Given the description of an element on the screen output the (x, y) to click on. 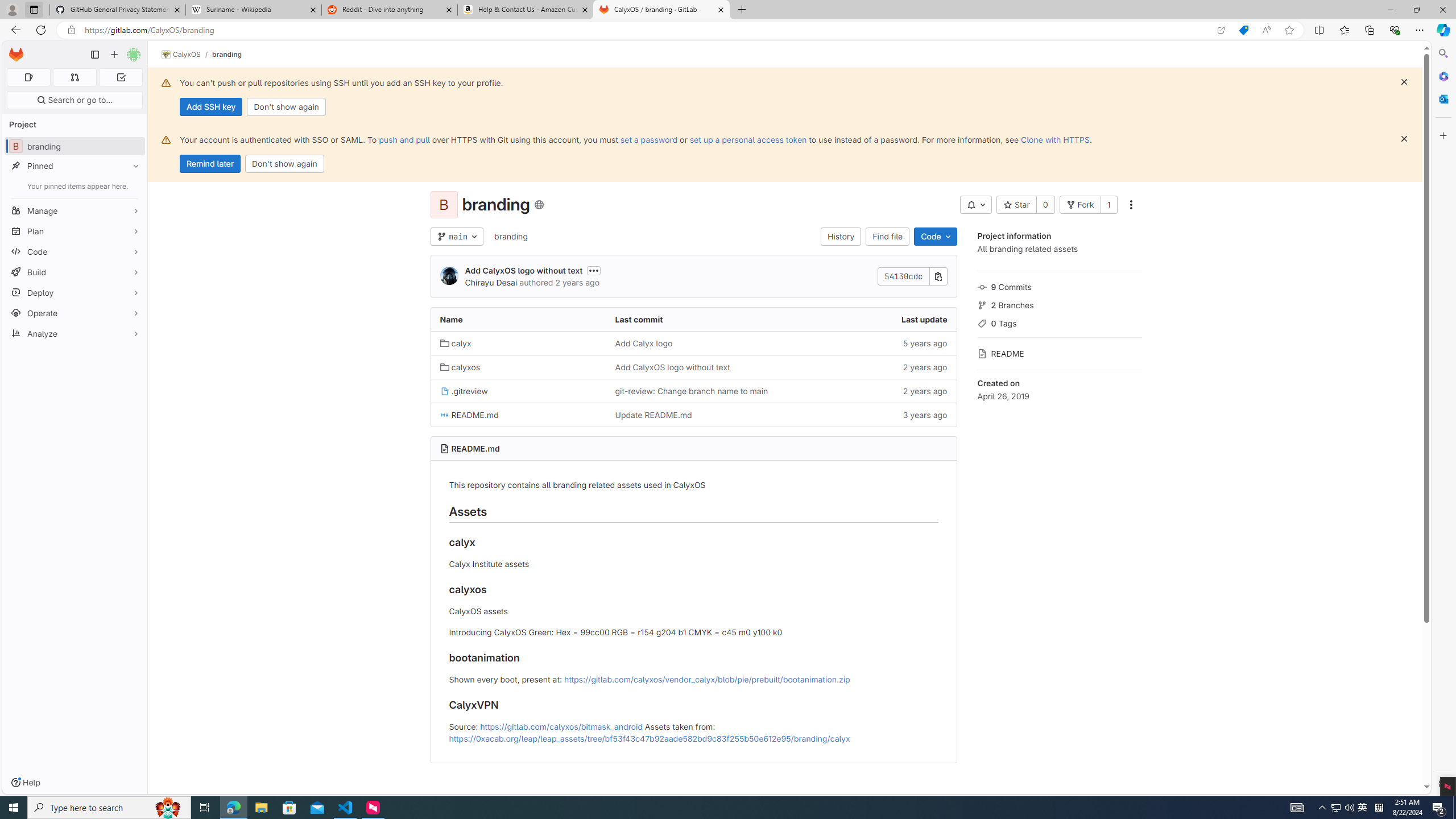
Open in app (1220, 29)
Remind later (210, 163)
main (456, 236)
Deploy (74, 292)
B branding (74, 145)
